Given the description of an element on the screen output the (x, y) to click on. 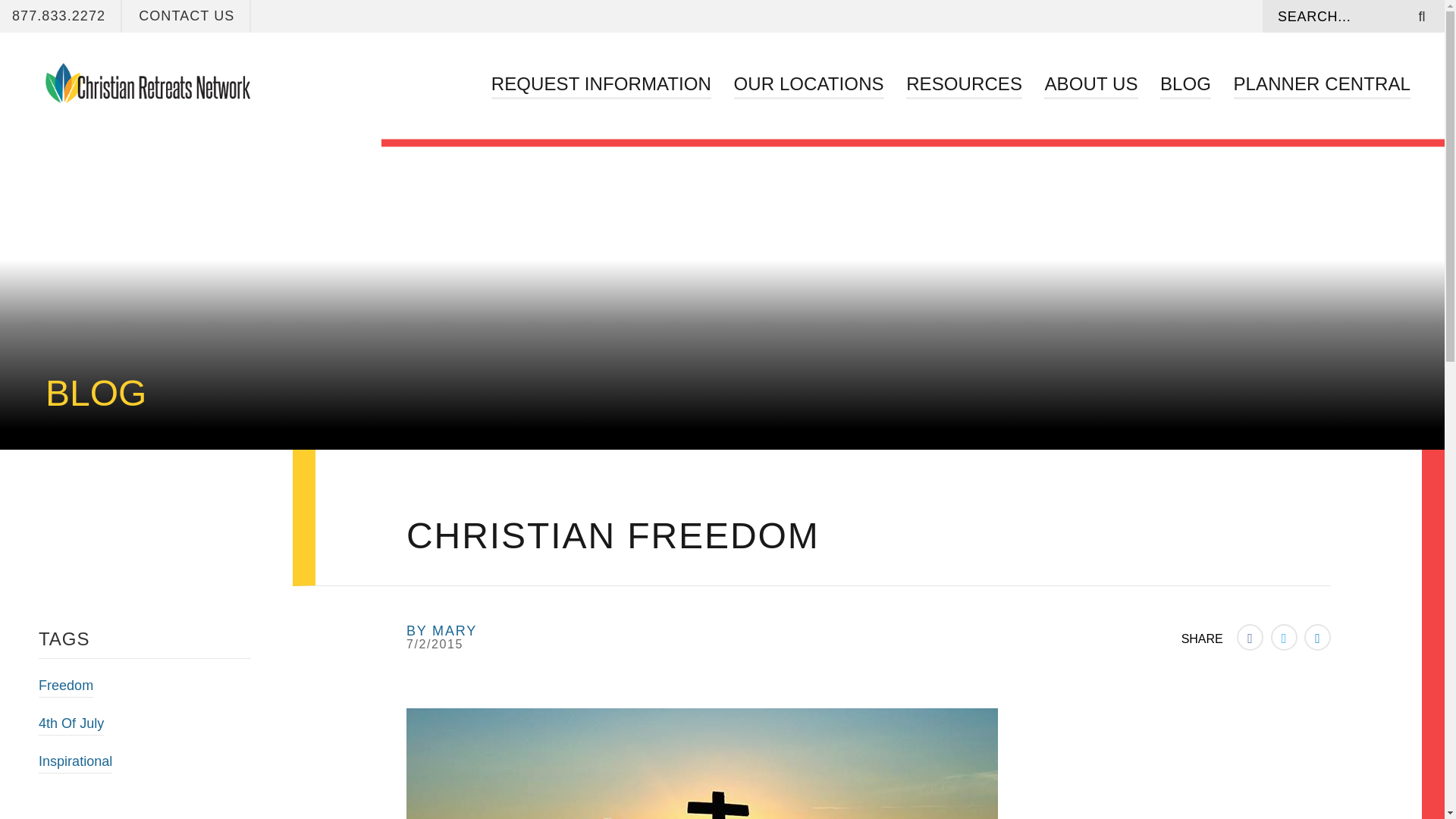
OUR LOCATIONS (808, 83)
RESOURCES (963, 83)
Freedom (66, 687)
4th Of July (71, 725)
Search (1334, 17)
Inspirational (75, 763)
BLOG (96, 393)
REQUEST INFORMATION (601, 83)
PLANNER CENTRAL (1321, 83)
BLOG (1185, 83)
